Given the description of an element on the screen output the (x, y) to click on. 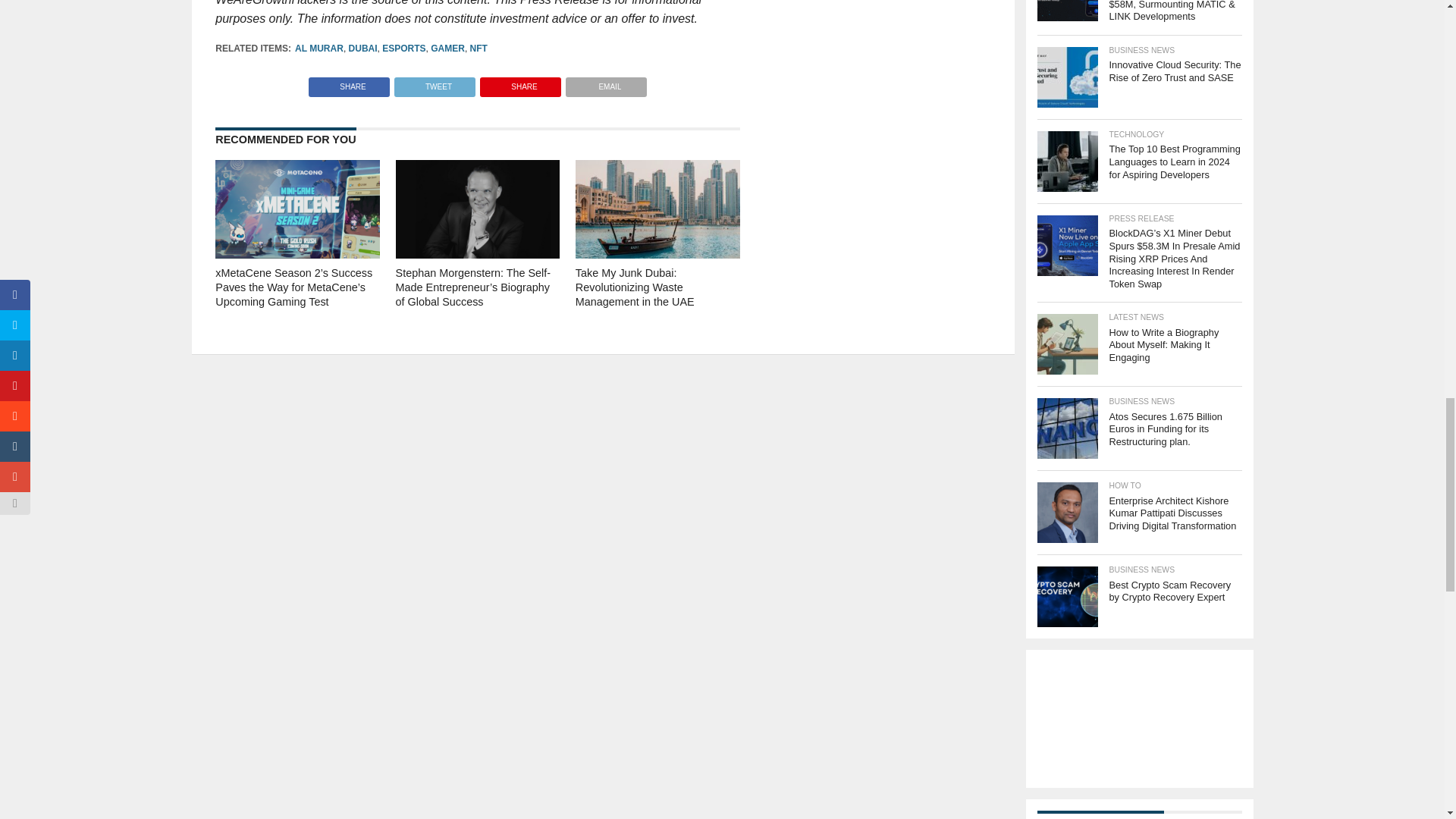
Tweet This Post (434, 82)
Pin This Post (520, 82)
Share on Facebook (349, 82)
